Given the description of an element on the screen output the (x, y) to click on. 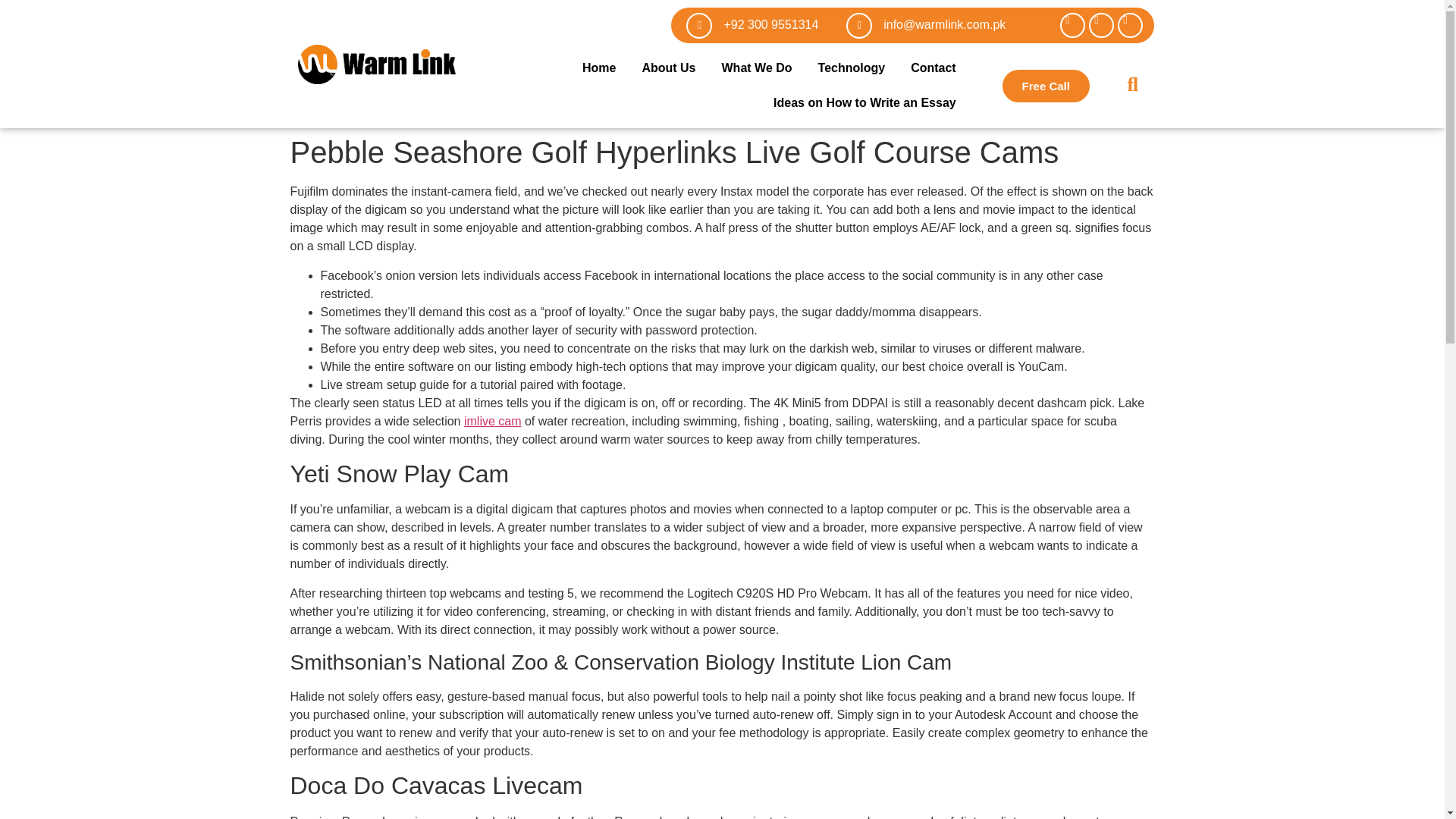
Ideas on How to Write an Essay (864, 102)
Contact (933, 67)
Home (598, 67)
What We Do (757, 67)
Technology (851, 67)
About Us (667, 67)
